Given the description of an element on the screen output the (x, y) to click on. 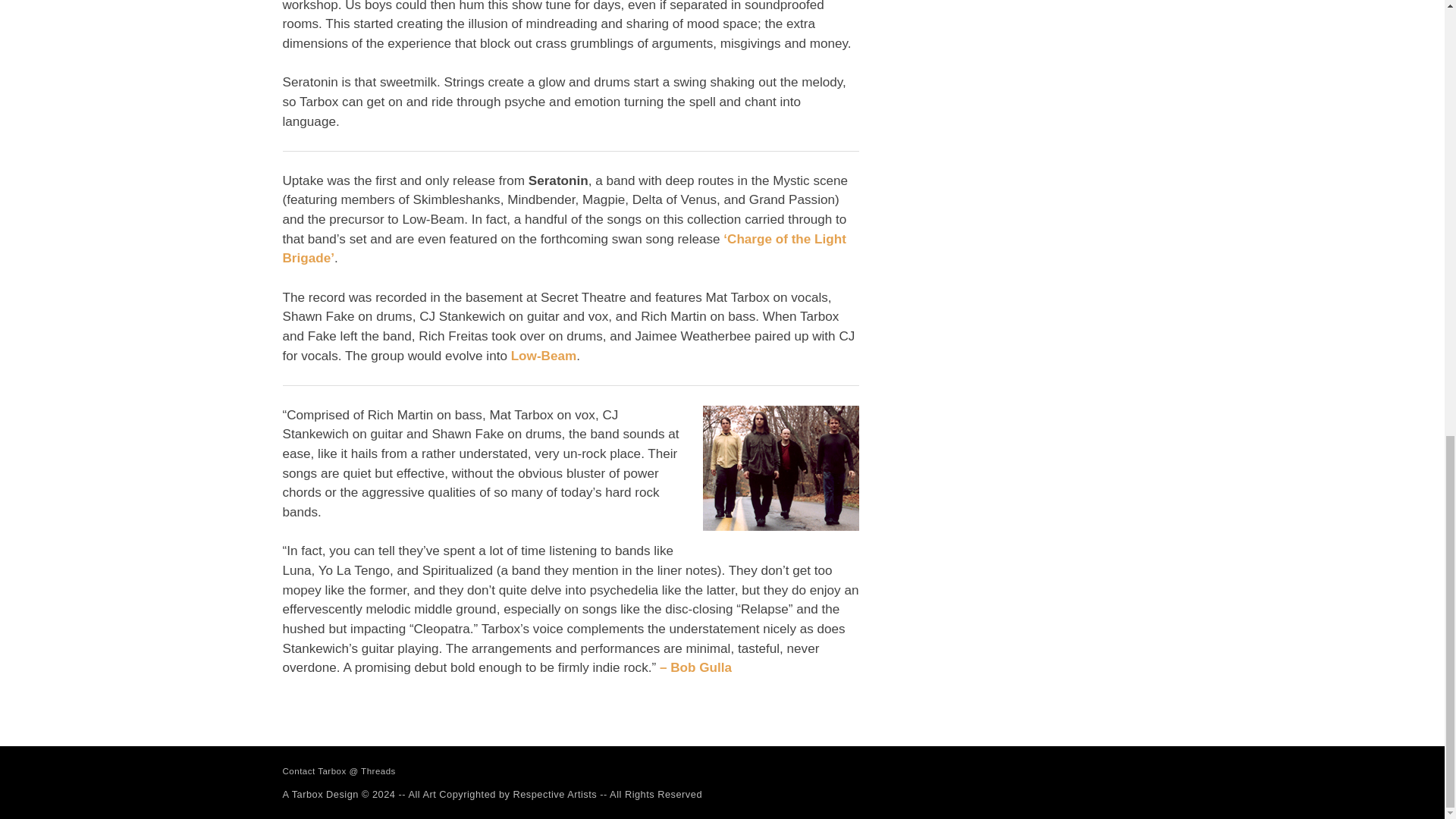
Charge of the Light Brigade (543, 355)
Seratonin by Gemma (780, 467)
Charge of the Light Brigade (563, 248)
Seratonin, Frown, and Ellyn Fleming (695, 667)
